Given the description of an element on the screen output the (x, y) to click on. 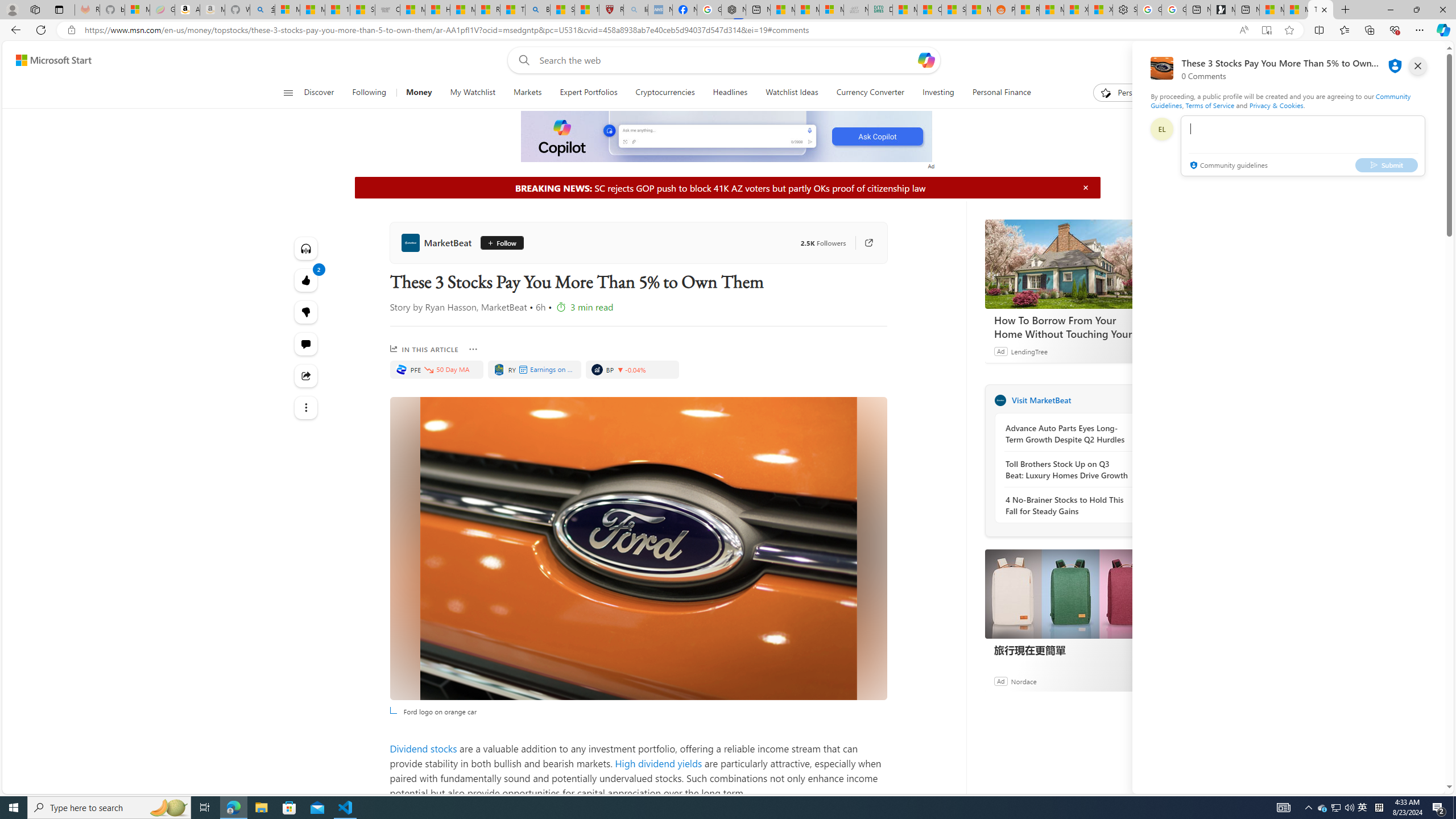
2 (305, 312)
comment-box (1302, 145)
Listen to this article (305, 248)
ROYAL BANK OF CANADA (499, 369)
4 No-Brainer Stocks to Hold This Fall for Steady Gains (1066, 504)
High dividend yields (657, 762)
Dividend stocks (423, 748)
